Given the description of an element on the screen output the (x, y) to click on. 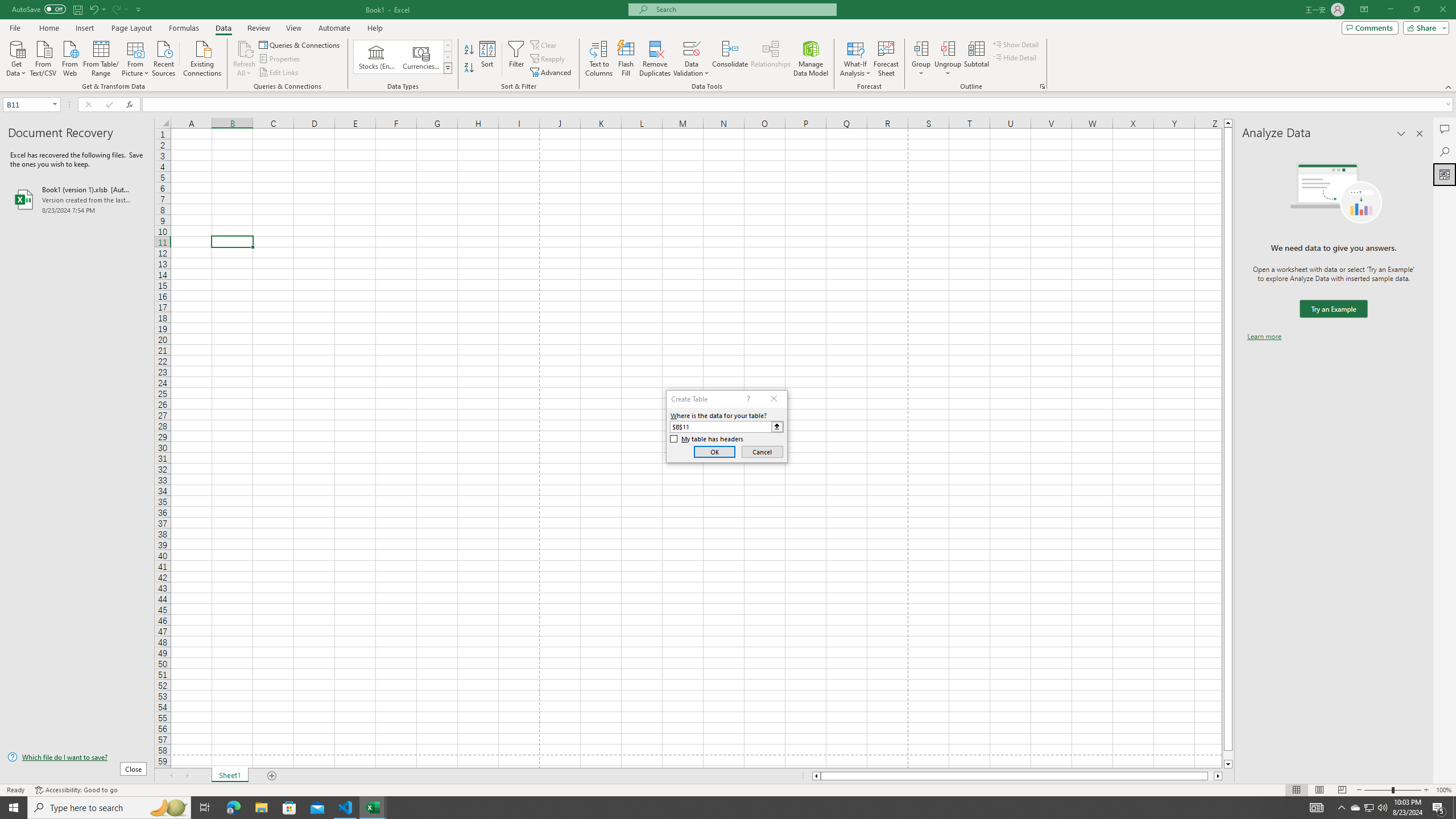
Get Data (16, 57)
AutomationID: ConvertToLinkedEntity (403, 56)
Stocks (English) (375, 56)
Forecast Sheet (885, 58)
